Given the description of an element on the screen output the (x, y) to click on. 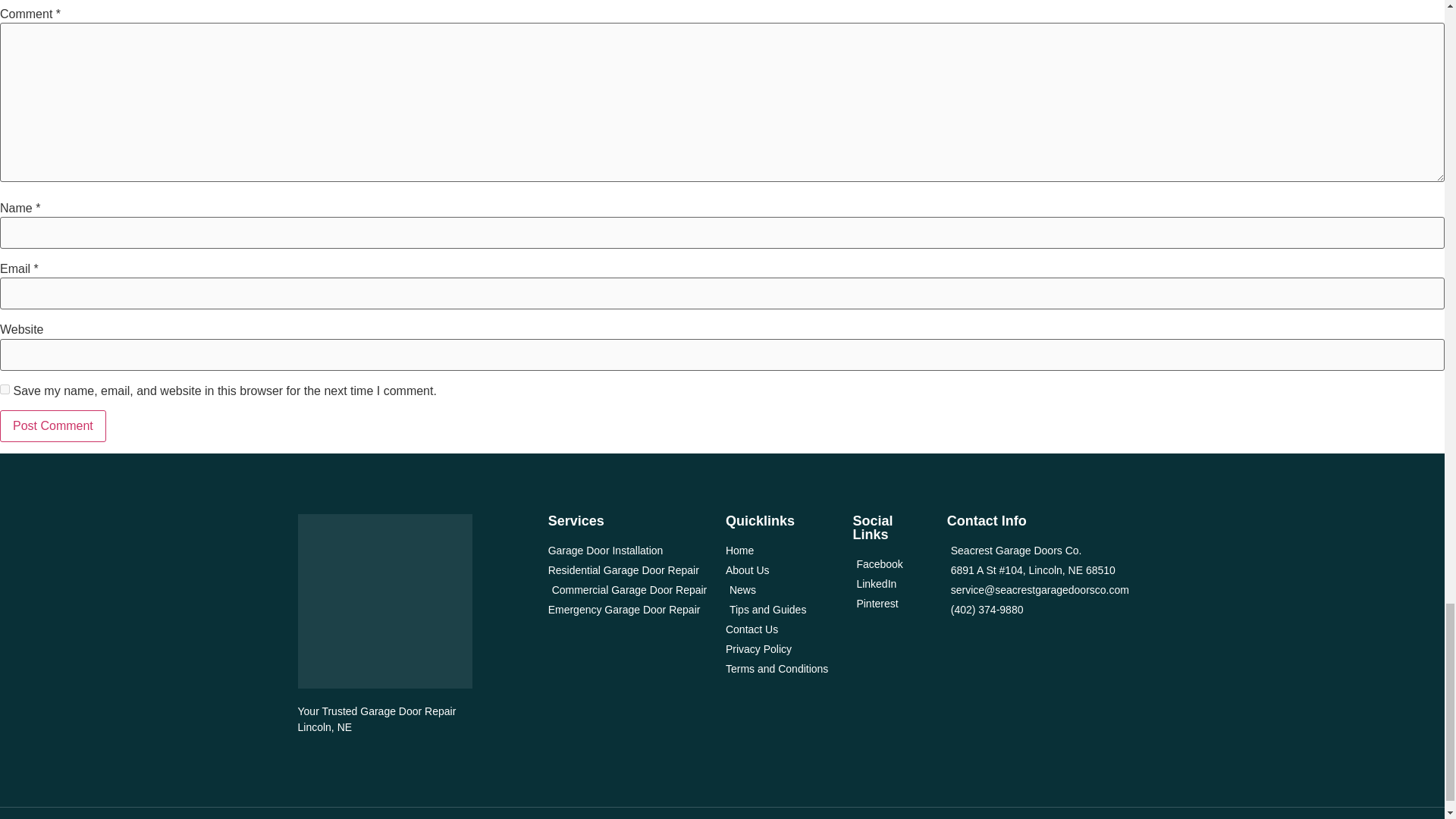
Post Comment (53, 426)
yes (5, 388)
